Given the description of an element on the screen output the (x, y) to click on. 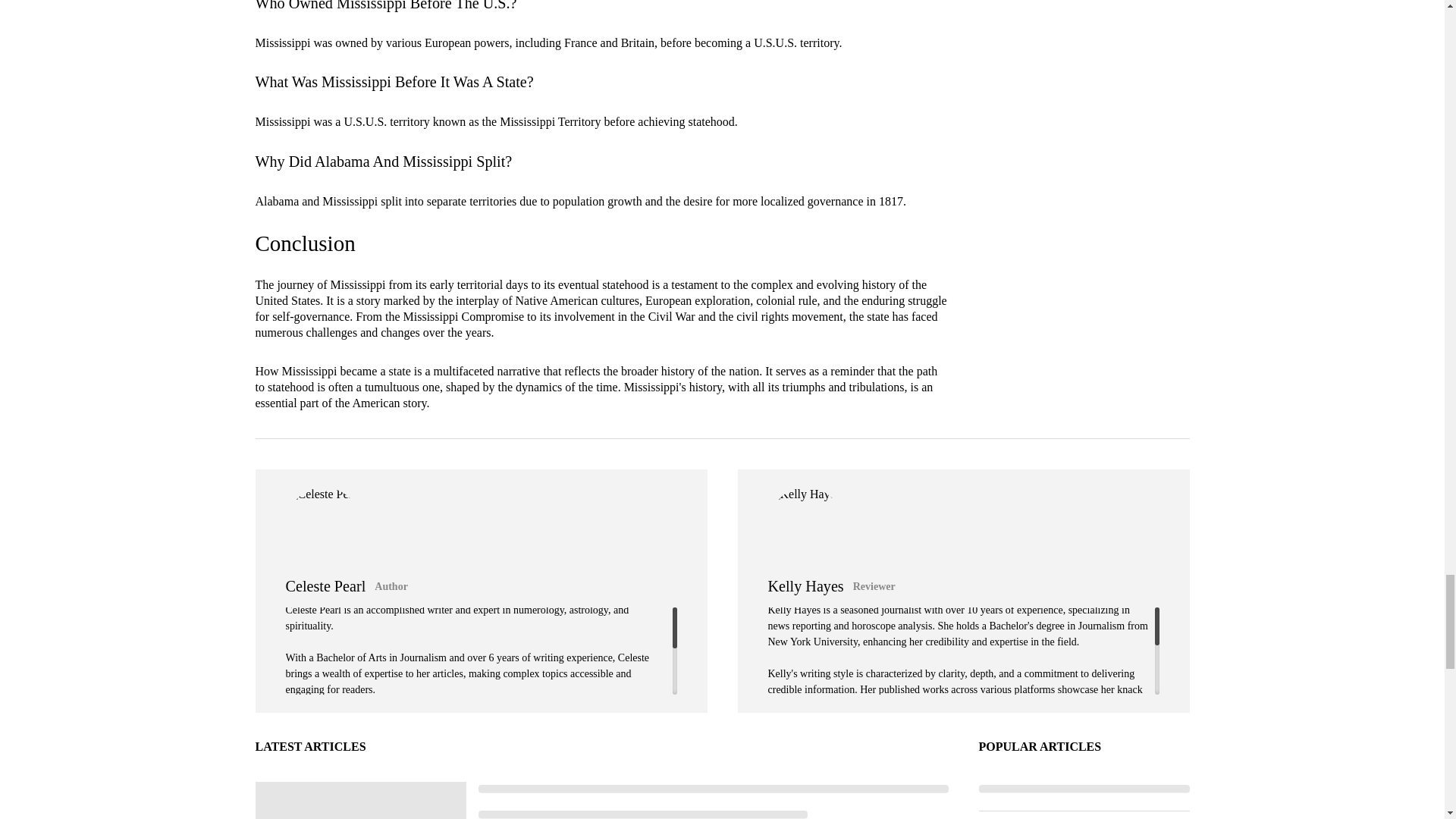
Why Did Alabama And Mississippi Split? (383, 161)
What Was Mississippi Before It Was A State? (393, 81)
Who Owned Mississippi Before The U.S.? (385, 5)
Conclusion (304, 242)
